Given the description of an element on the screen output the (x, y) to click on. 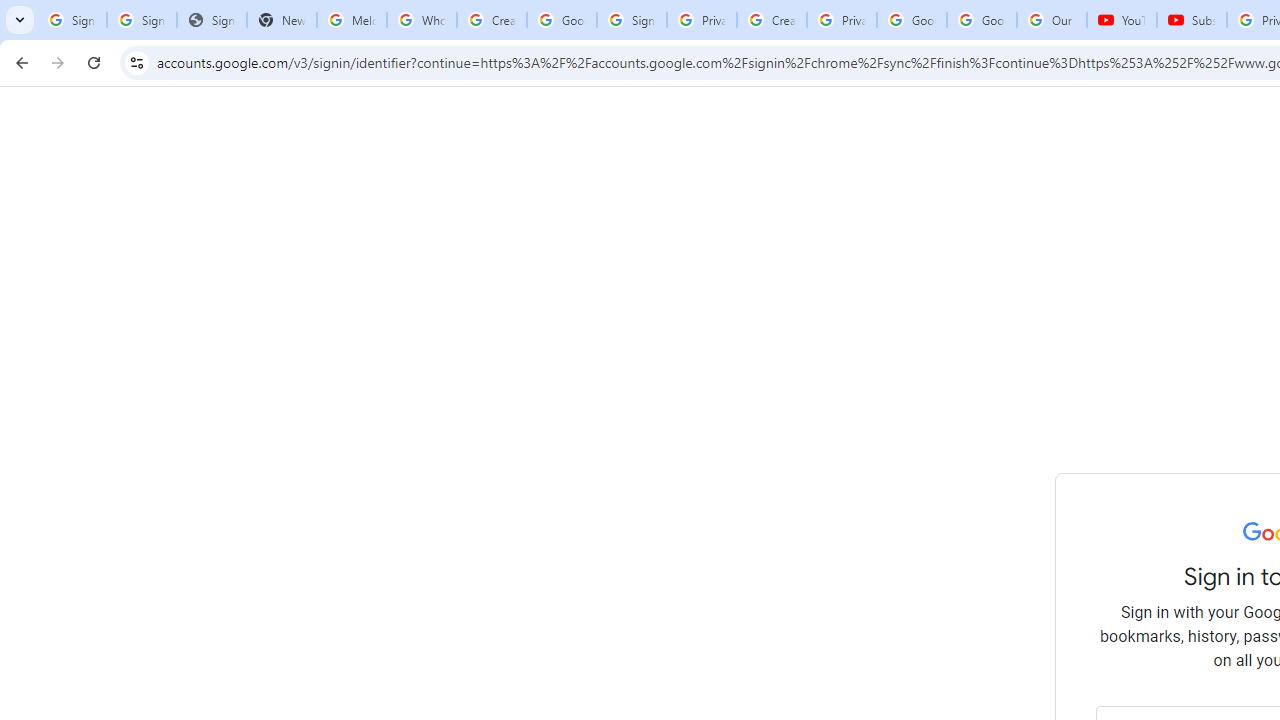
New Tab (282, 20)
Who is my administrator? - Google Account Help (421, 20)
Sign in - Google Accounts (141, 20)
Create your Google Account (772, 20)
YouTube (1121, 20)
